Given the description of an element on the screen output the (x, y) to click on. 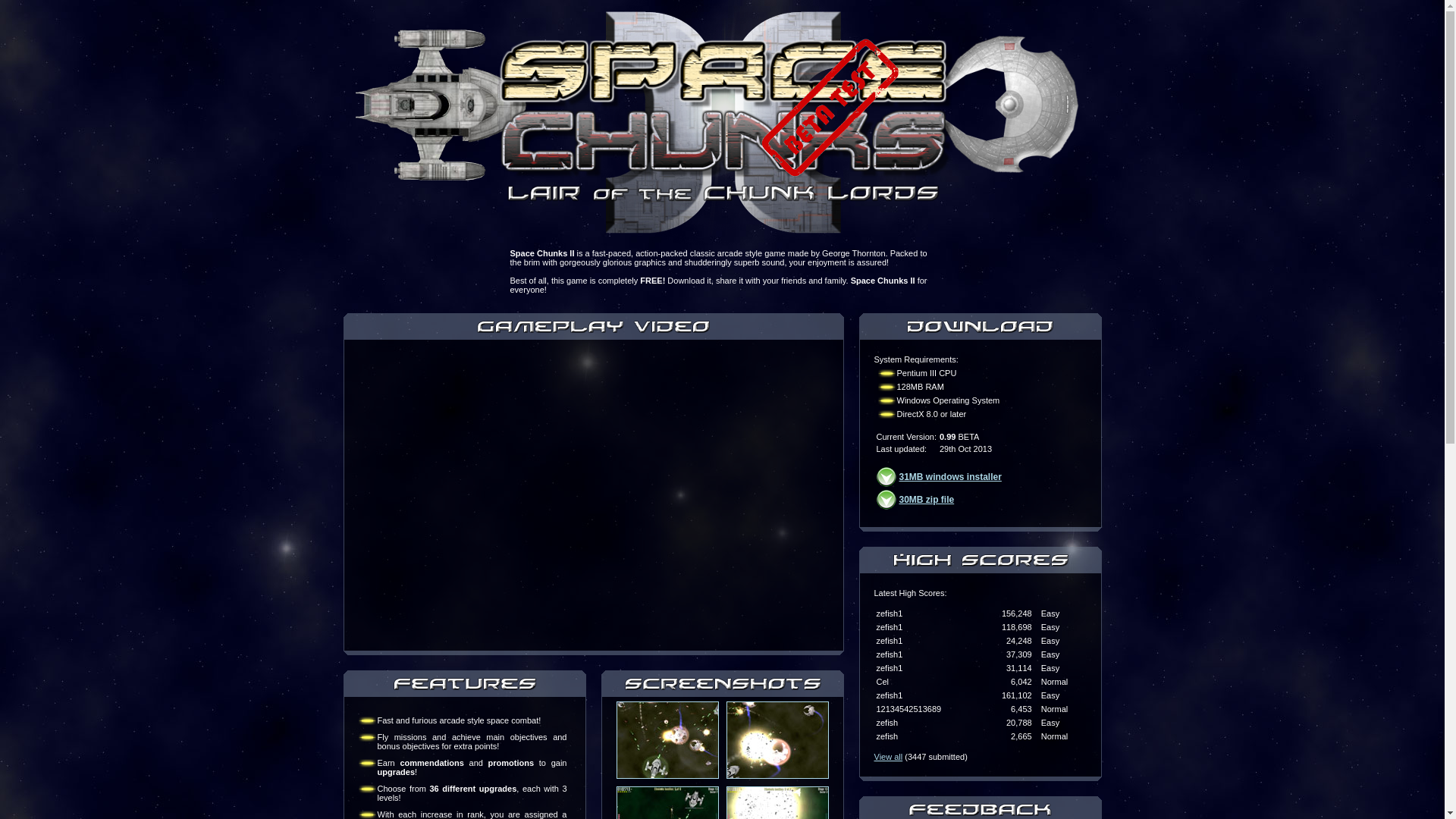
Click to enlarge Element type: hover (666, 739)
View all Element type: text (887, 756)
31MB windows installer Element type: text (950, 476)
Click to enlarge Element type: hover (777, 739)
30MB zip file Element type: text (926, 499)
